Given the description of an element on the screen output the (x, y) to click on. 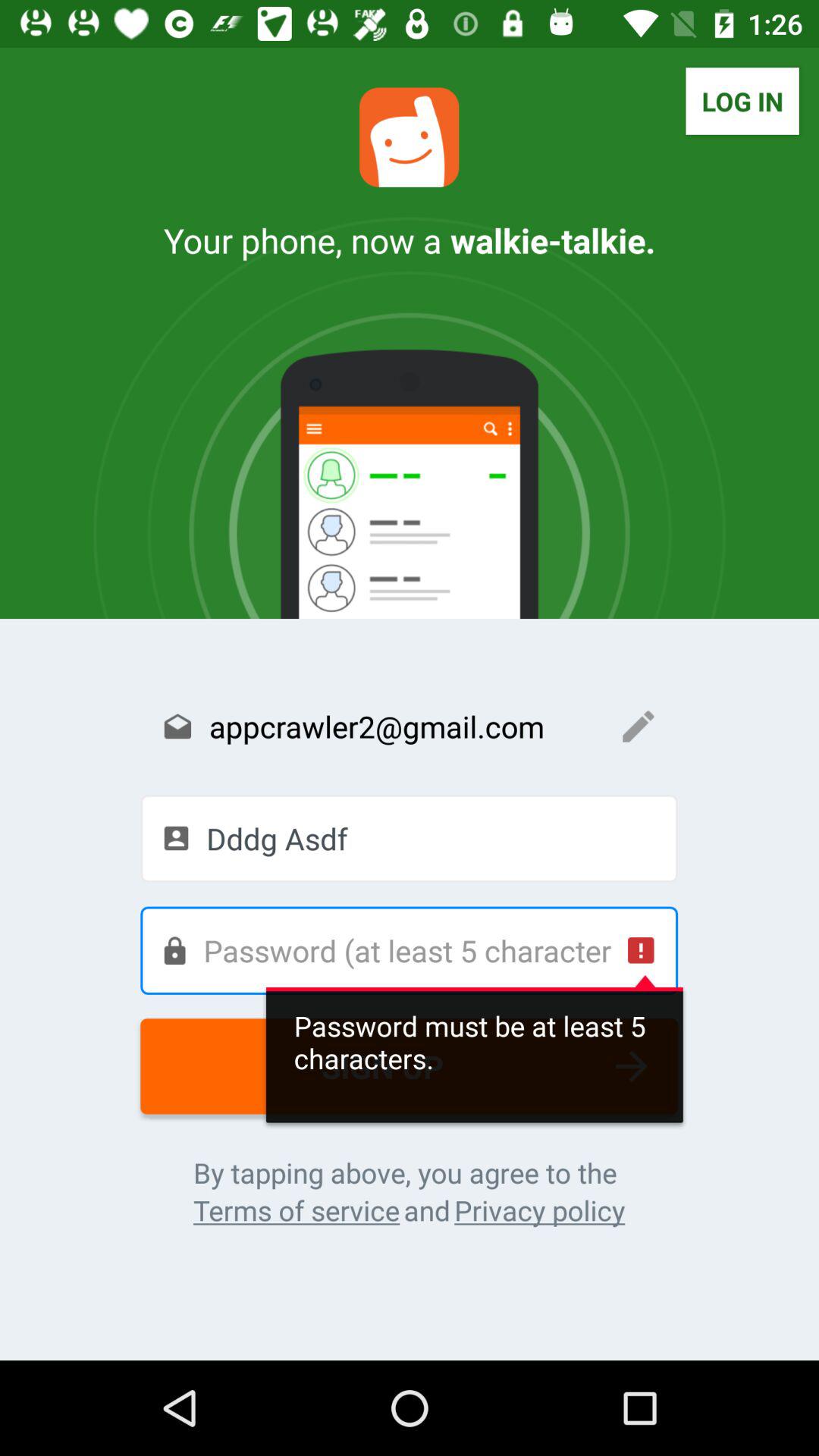
press the icon above by tapping above icon (408, 1066)
